Given the description of an element on the screen output the (x, y) to click on. 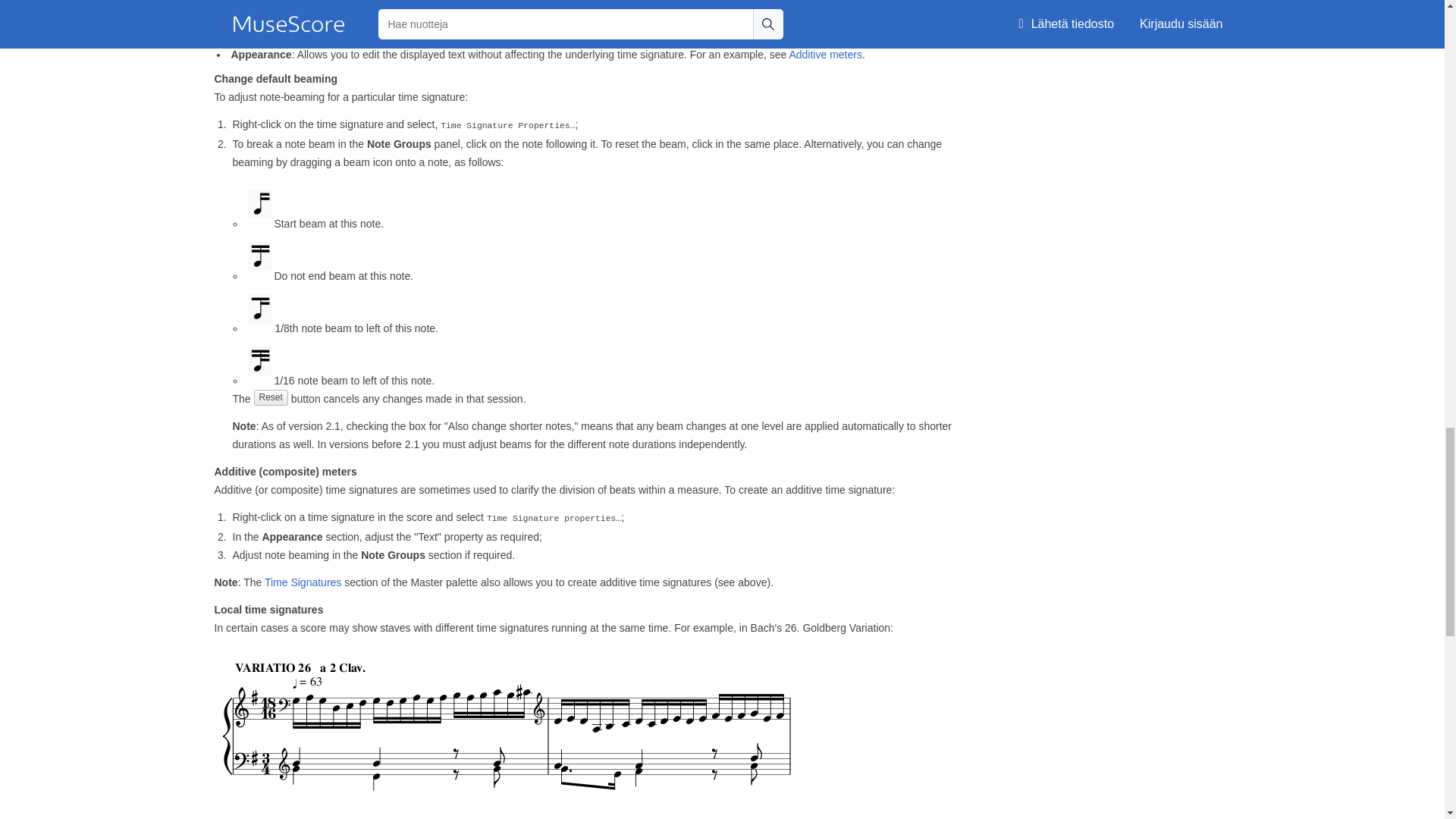
Bach's 26. Goldberg Variation (508, 729)
